Given the description of an element on the screen output the (x, y) to click on. 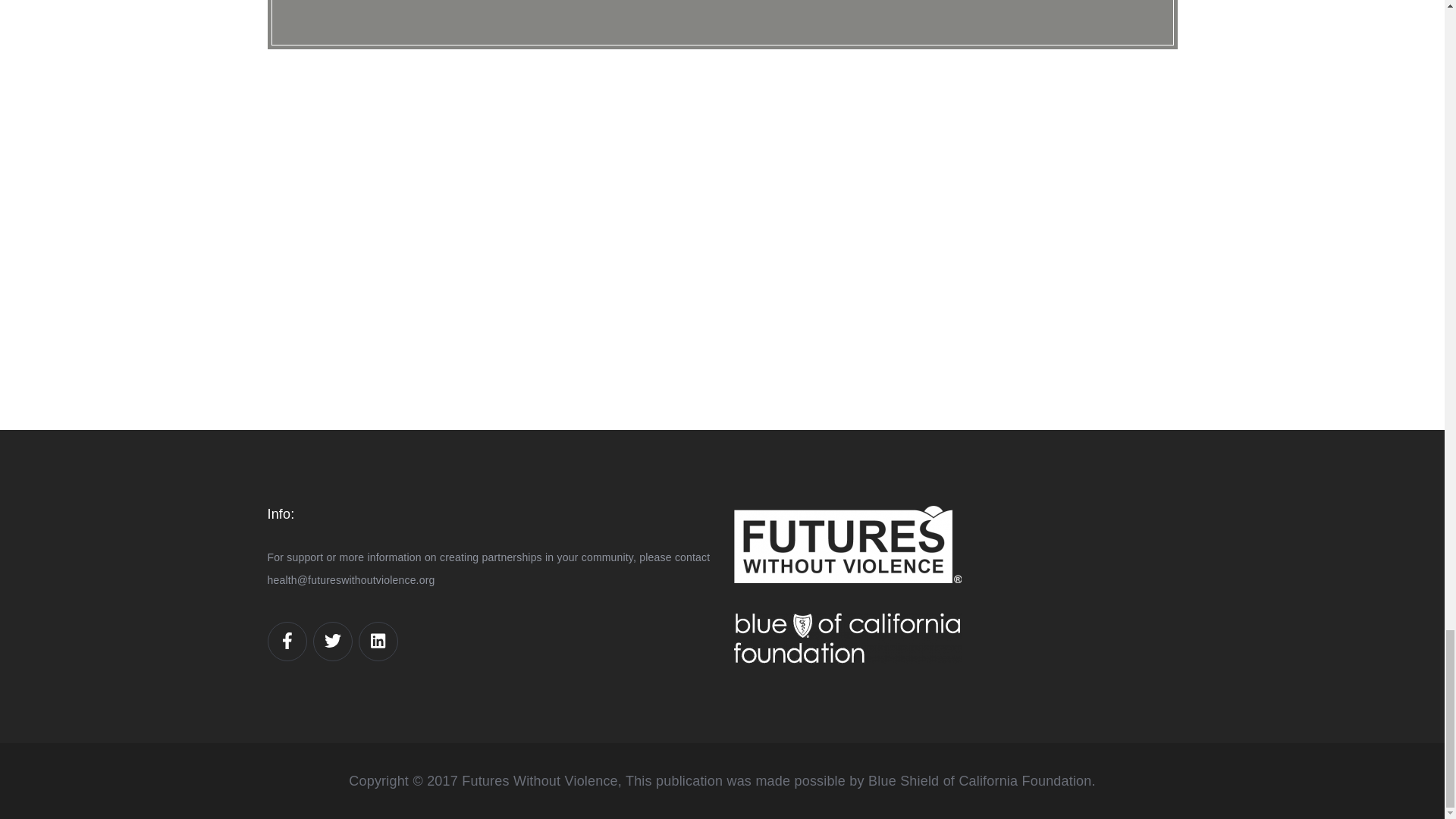
Facebook (286, 641)
Twitter (333, 641)
LinkedIn (378, 641)
